Given the description of an element on the screen output the (x, y) to click on. 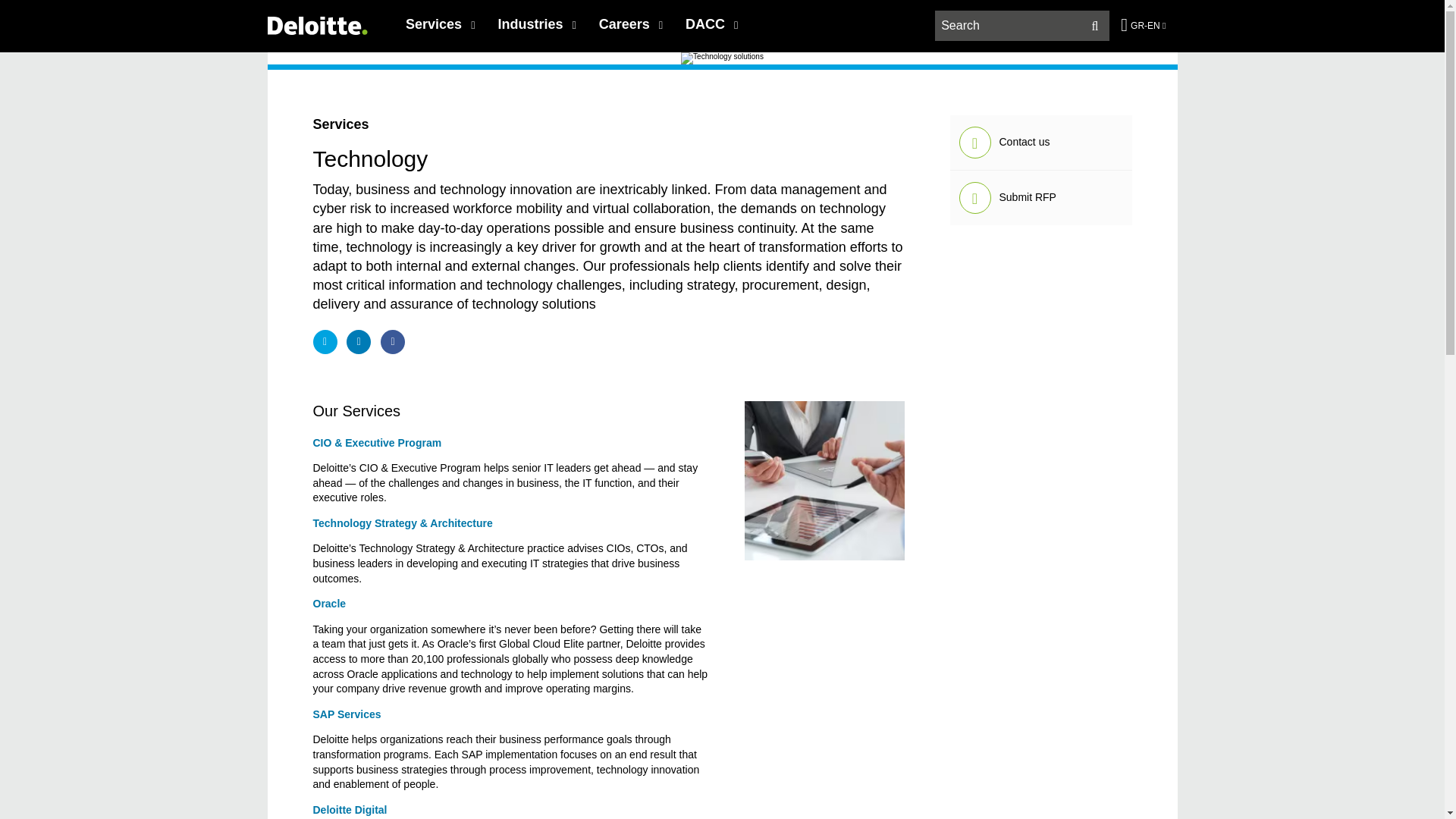
search (1022, 25)
Share via... (324, 340)
Deloitte Greece (316, 25)
Share via... (392, 340)
Industries (536, 24)
Services (440, 24)
Share via... (358, 340)
Search (1094, 25)
